Given the description of an element on the screen output the (x, y) to click on. 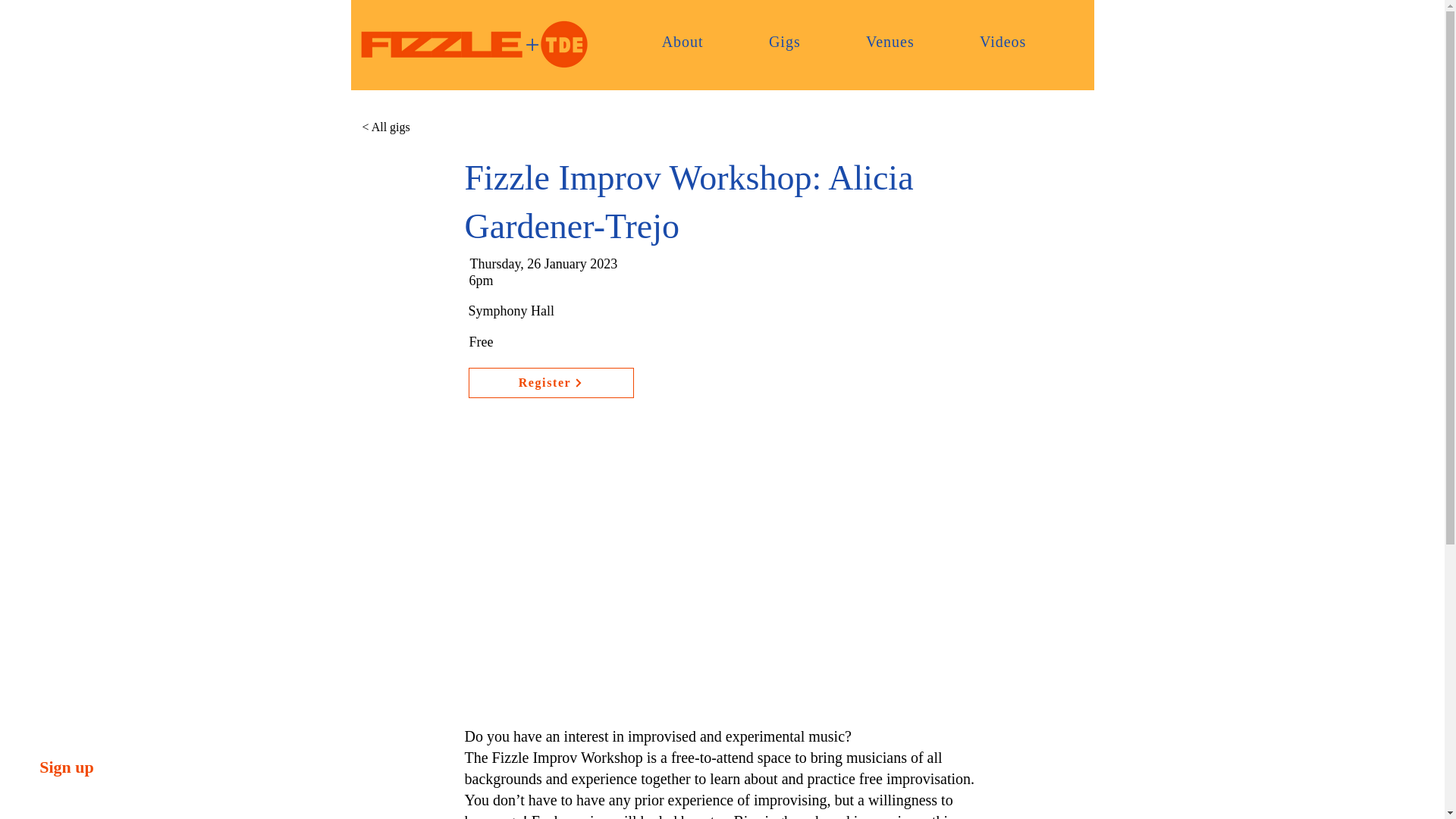
Venues (889, 41)
Register (550, 382)
Videos (1003, 41)
Sign up (66, 767)
Gigs (784, 41)
About (682, 41)
